Given the description of an element on the screen output the (x, y) to click on. 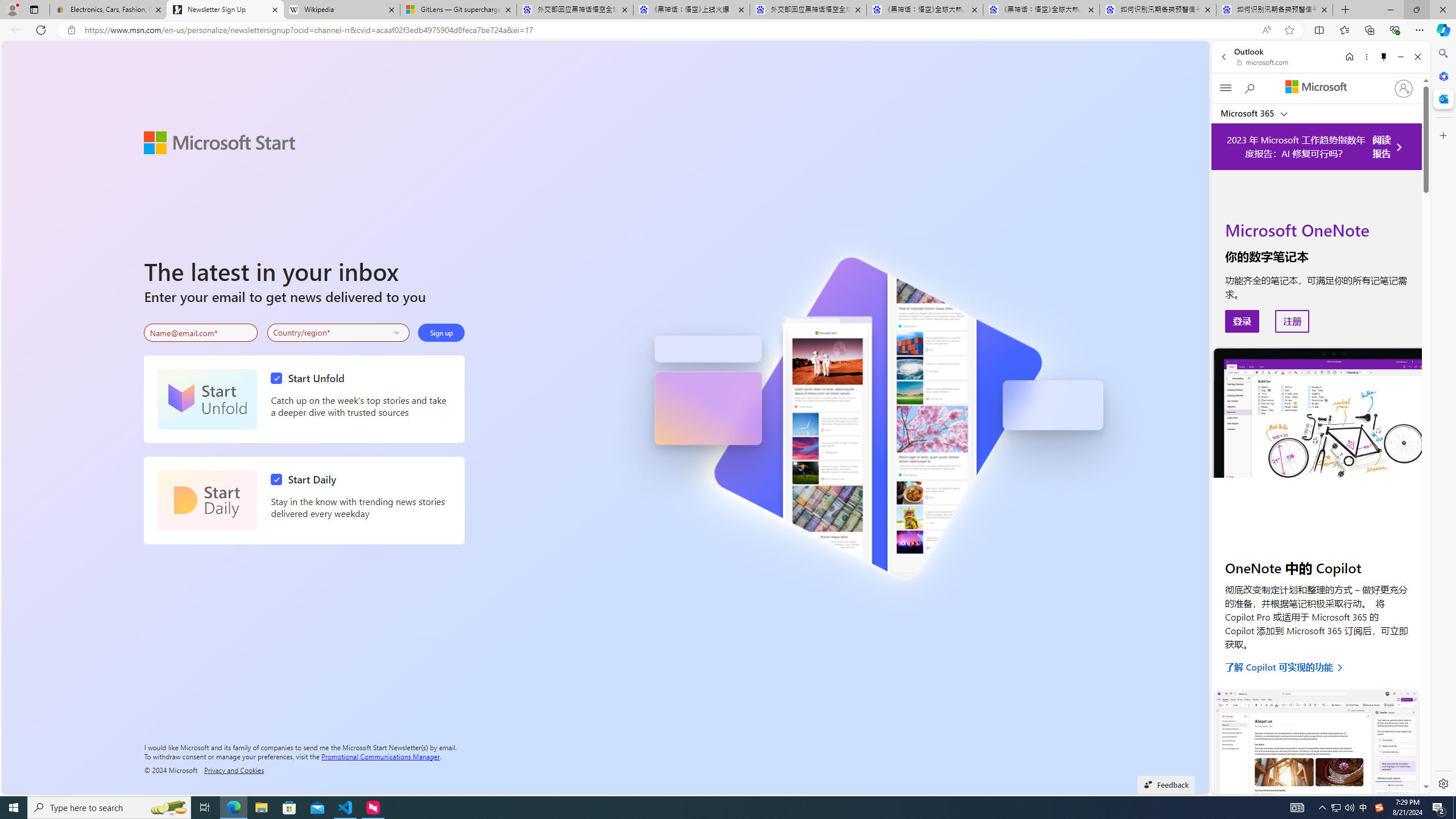
Start Unfold (310, 378)
Unpin side pane (1383, 56)
